Given the description of an element on the screen output the (x, y) to click on. 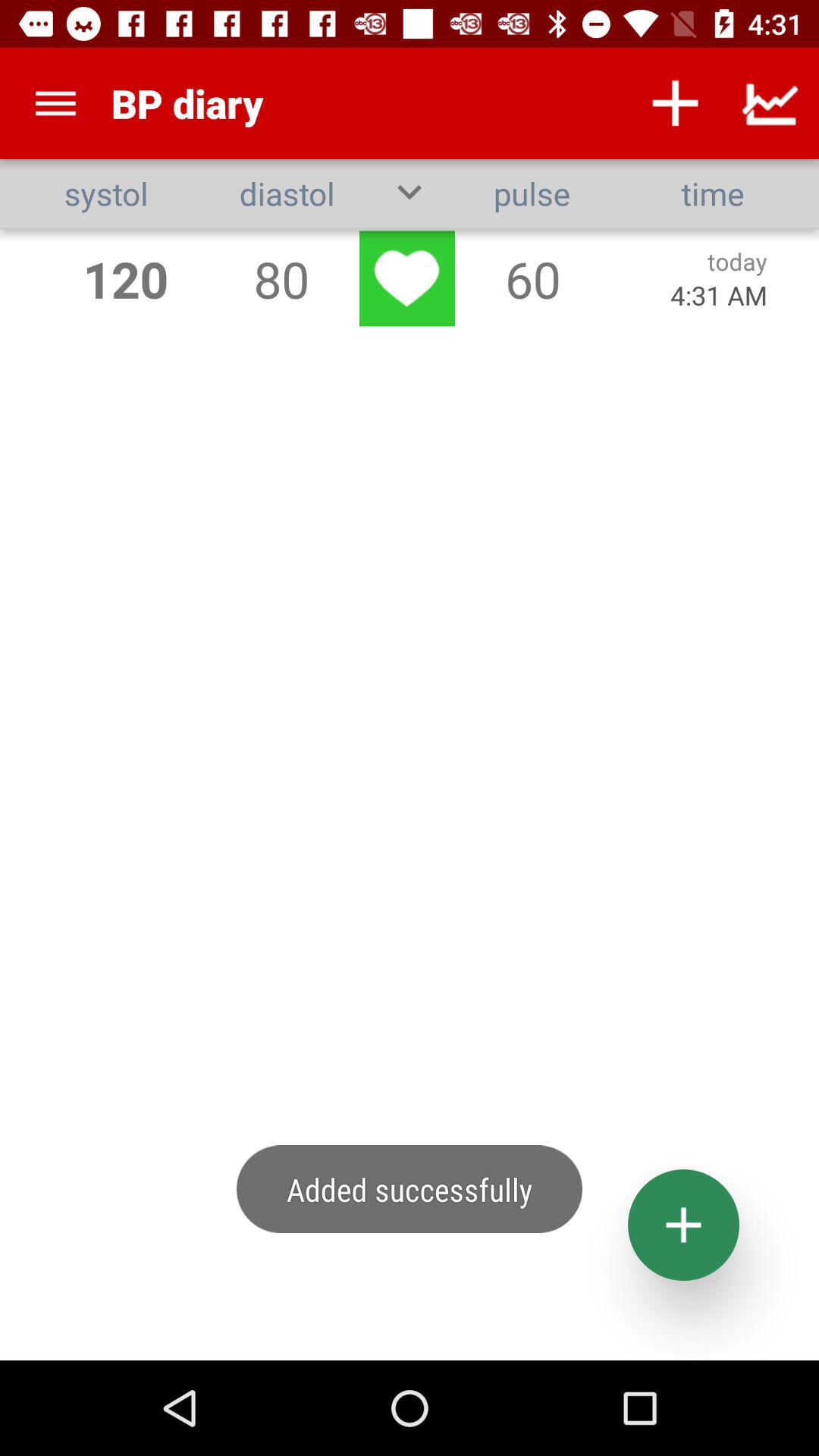
turn off item next to 4:31 am icon (532, 278)
